Given the description of an element on the screen output the (x, y) to click on. 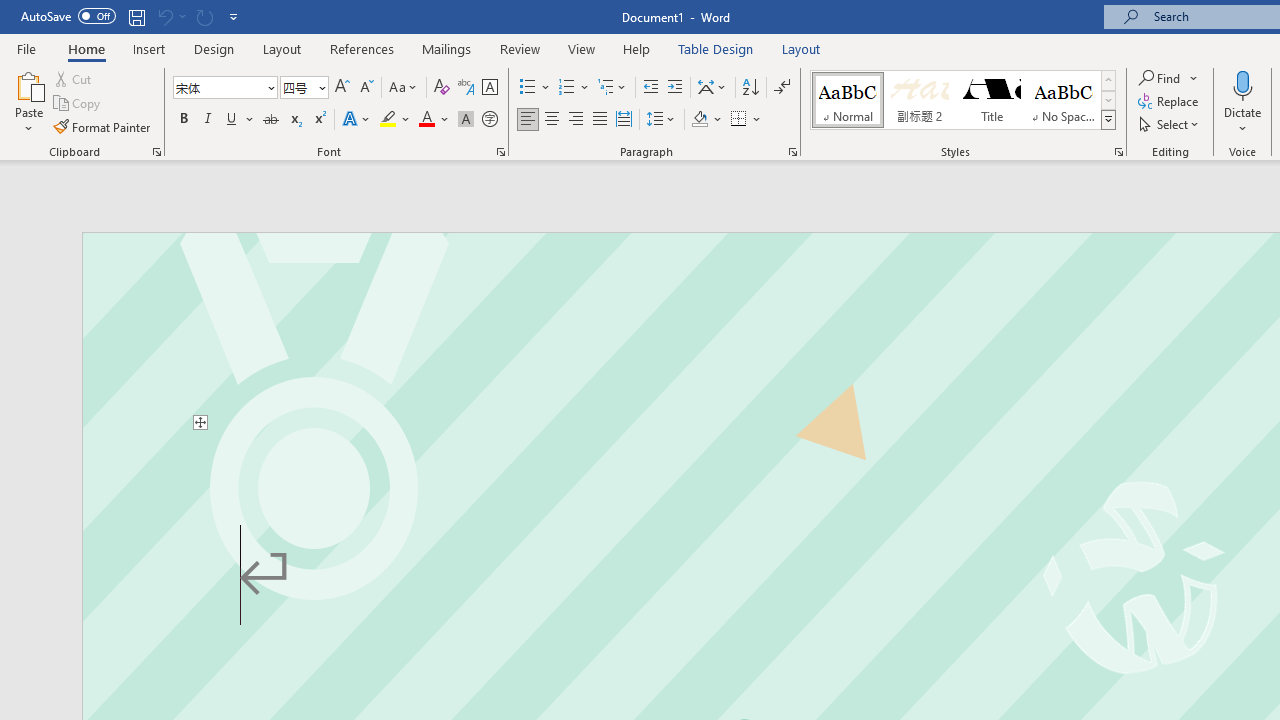
Can't Undo (170, 15)
Title (991, 100)
